Given the description of an element on the screen output the (x, y) to click on. 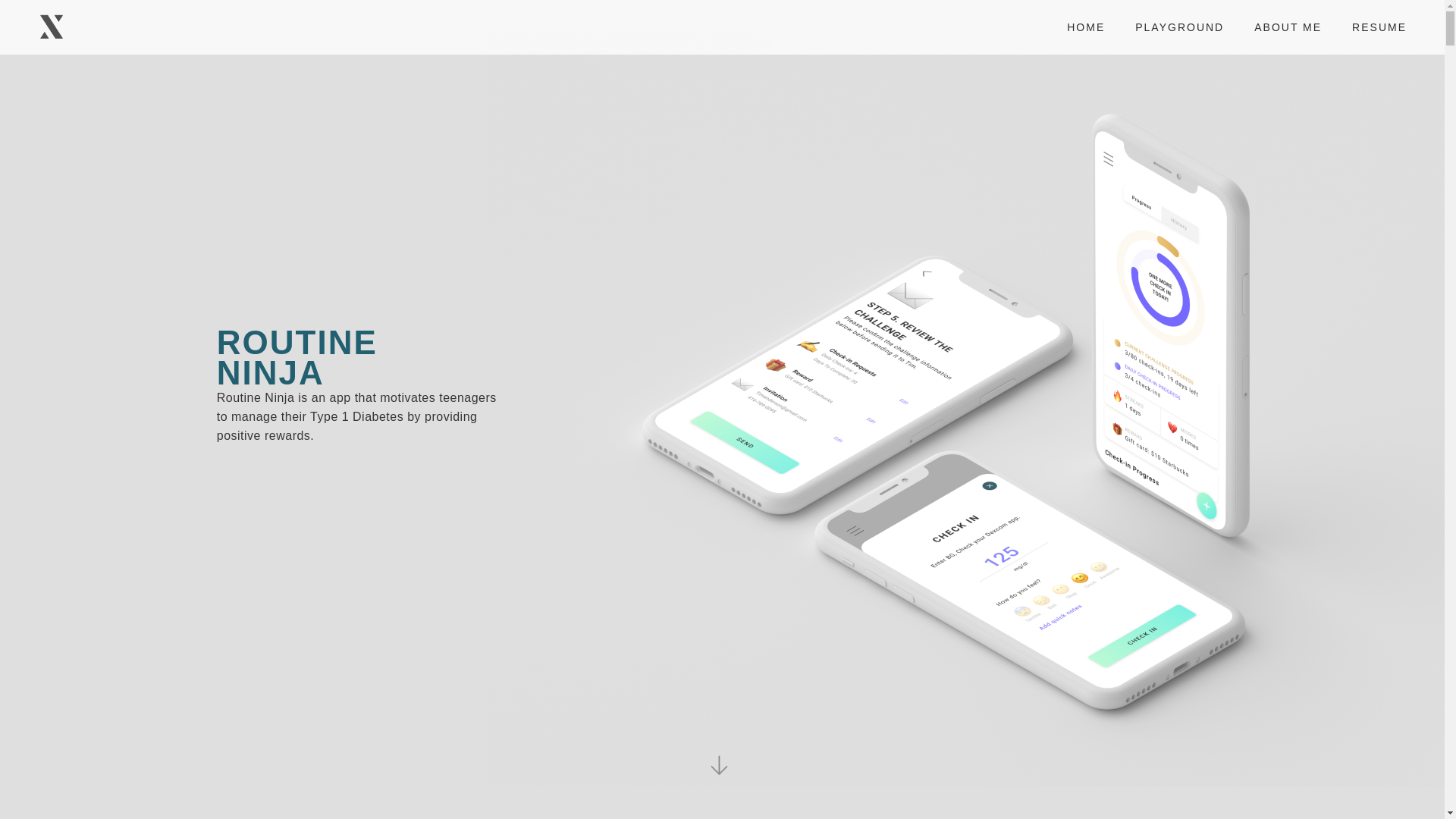
ABOUT ME (1287, 27)
PLAYGROUND (1179, 27)
HOME (1085, 27)
RESUME (1379, 27)
